Given the description of an element on the screen output the (x, y) to click on. 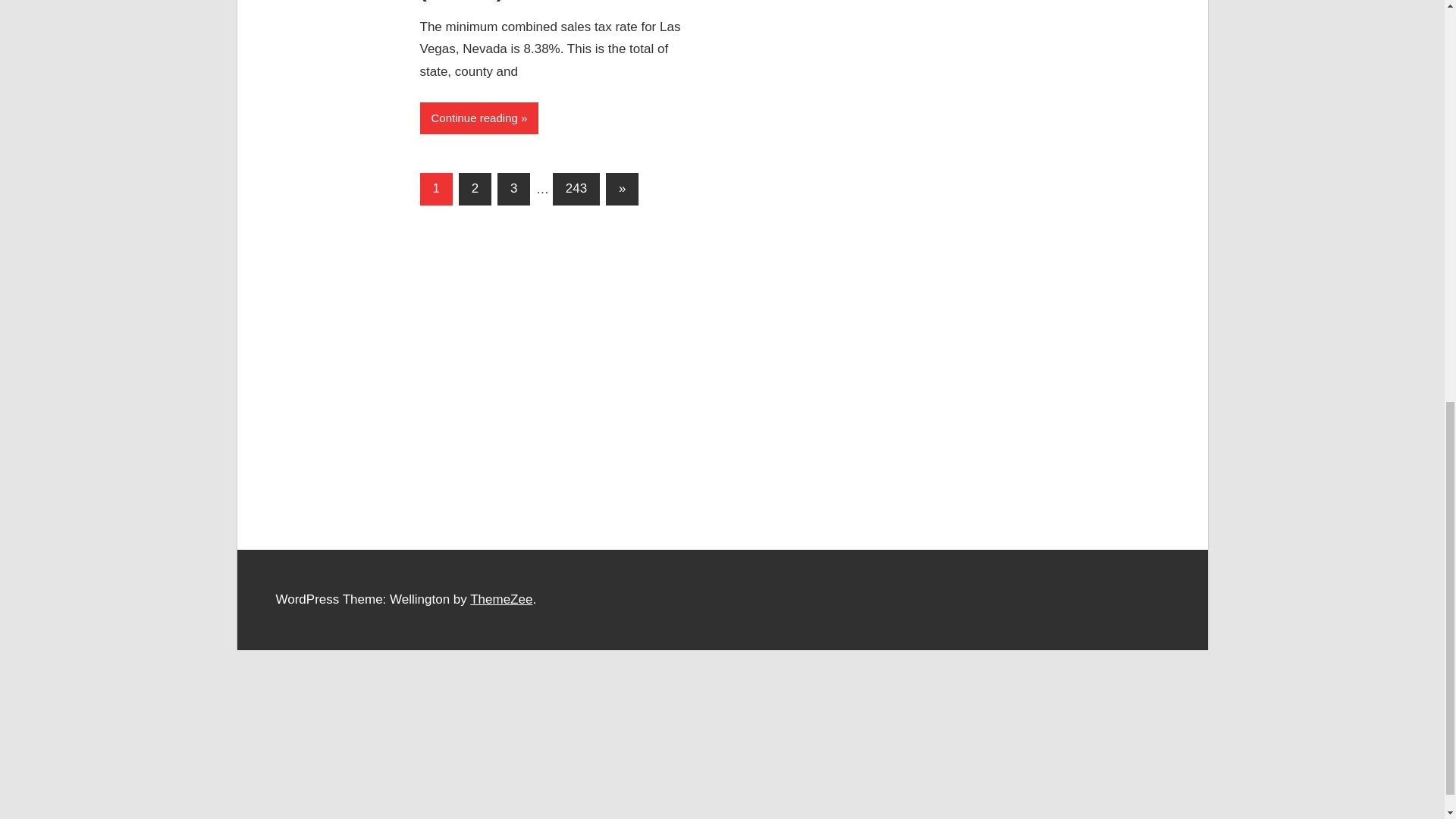
ThemeZee (501, 599)
Advertisement (721, 709)
Continue reading (479, 117)
243 (576, 188)
3 (513, 188)
2 (475, 188)
Advertisement (721, 287)
